Given the description of an element on the screen output the (x, y) to click on. 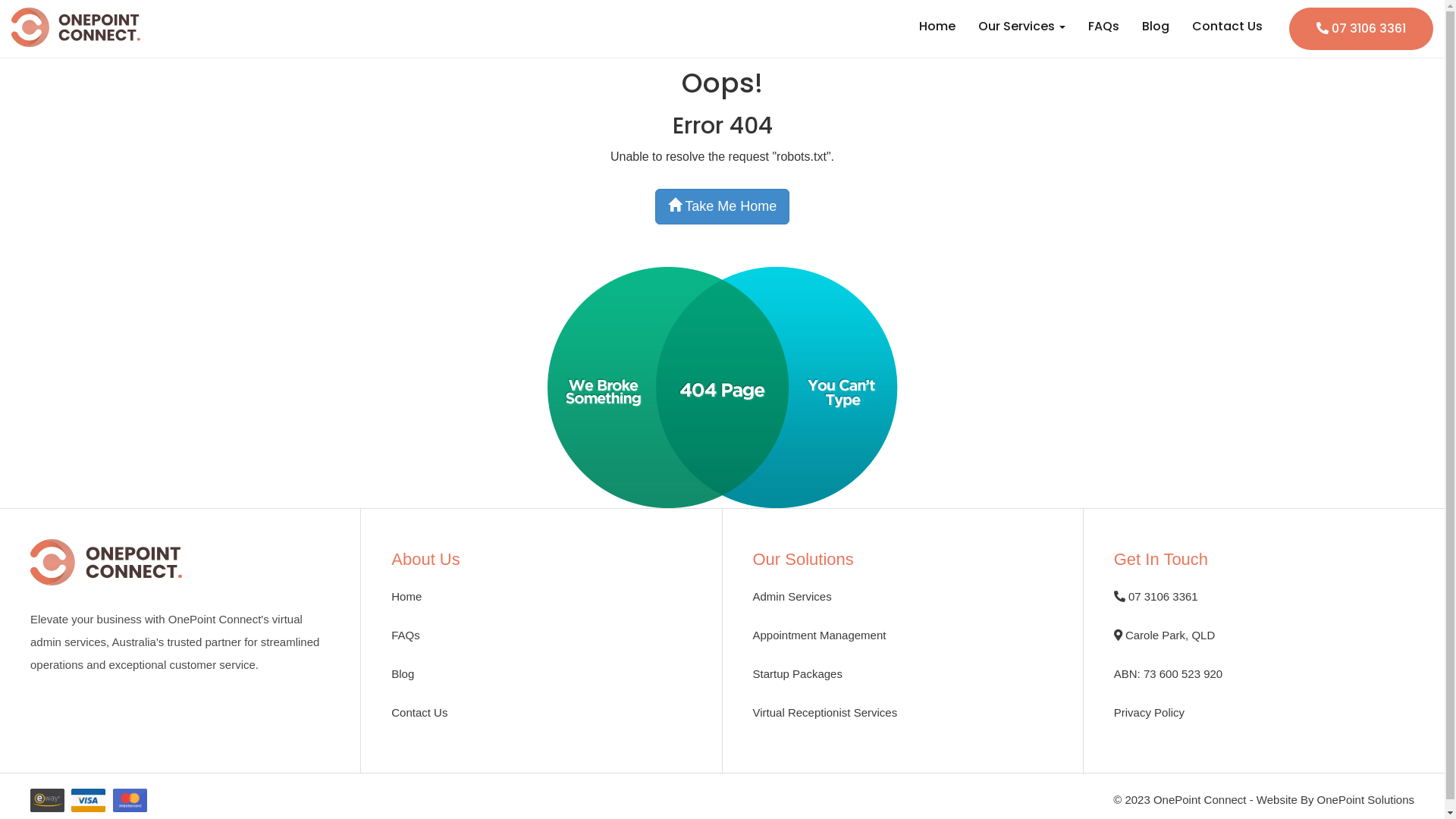
FAQs Element type: text (1103, 26)
Our Services Element type: text (1021, 26)
Take Me Home Element type: text (722, 206)
Carole Park, QLD Element type: text (1164, 634)
Blog Element type: text (1155, 26)
Home Element type: text (406, 595)
07 3106 3361 Element type: text (1155, 595)
Appointment Management Element type: text (818, 634)
OnePoint Solutions Element type: text (1365, 799)
Admin Services Element type: text (791, 595)
07 3106 3361 Element type: text (1361, 28)
Blog Element type: text (402, 673)
Virtual Receptionist Services Element type: text (824, 712)
Startup Packages Element type: text (796, 673)
FAQs Element type: text (405, 634)
Home Element type: text (936, 26)
Privacy Policy Element type: text (1148, 712)
Contact Us Element type: text (419, 712)
Contact Us Element type: text (1227, 26)
